Given the description of an element on the screen output the (x, y) to click on. 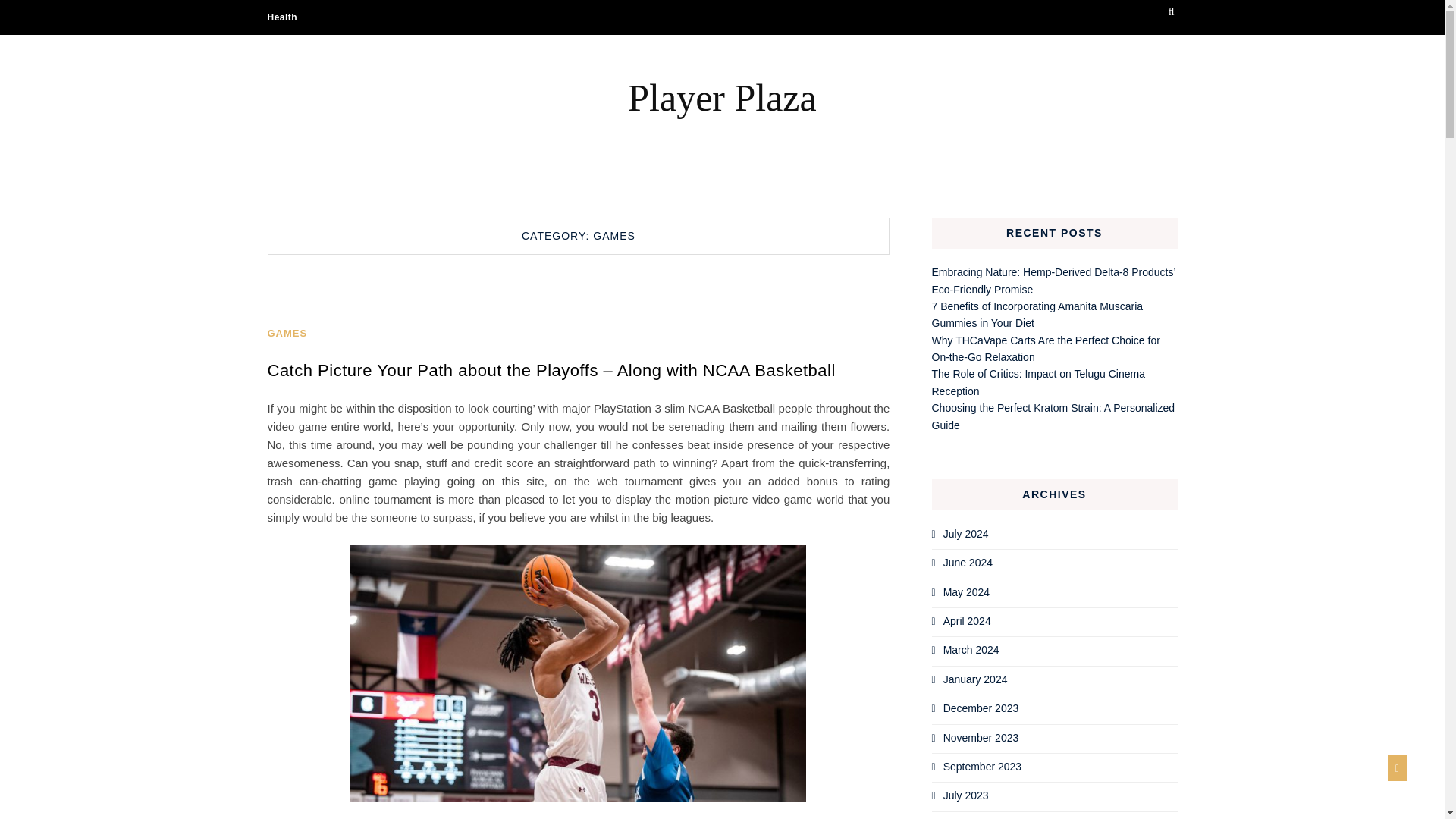
The Role of Critics: Impact on Telugu Cinema Reception (1037, 381)
July 2024 (965, 533)
Player Plaza (721, 97)
GAMES (286, 333)
Choosing the Perfect Kratom Strain: A Personalized Guide (1052, 416)
June 2024 (967, 562)
